Given the description of an element on the screen output the (x, y) to click on. 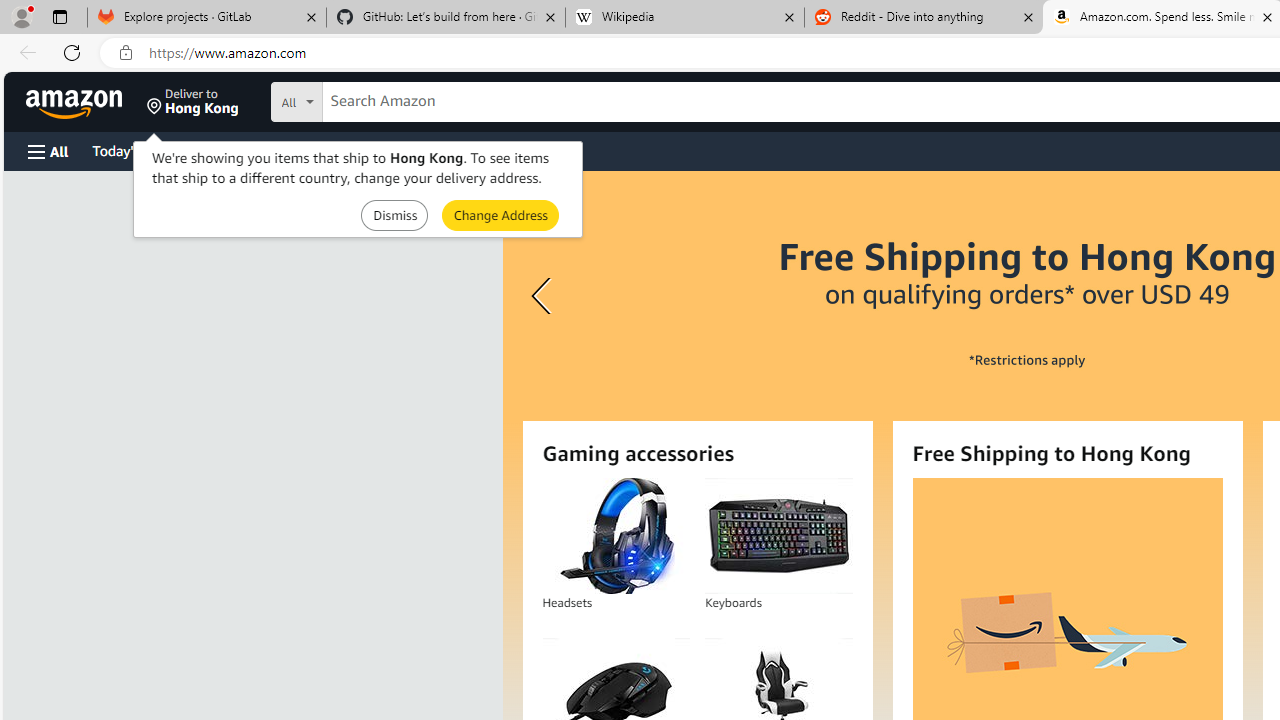
Previous slide (544, 296)
Skip to main content (86, 100)
Sell (509, 150)
Headsets (616, 536)
Deliver to Hong Kong (193, 101)
Amazon (76, 101)
Registry (360, 150)
Headsets (615, 536)
Search in (371, 99)
